Given the description of an element on the screen output the (x, y) to click on. 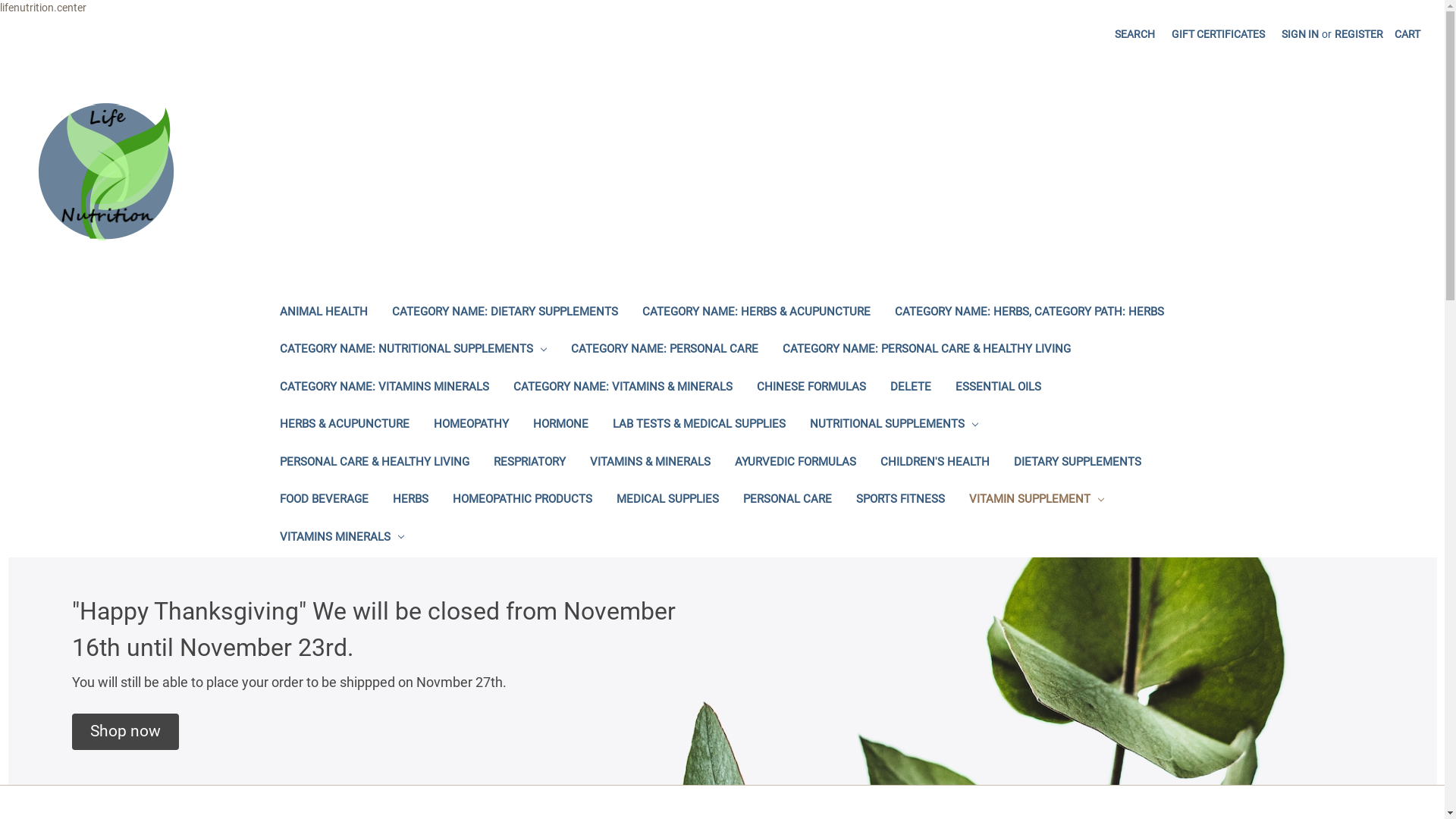
PERSONAL CARE & HEALTHY LIVING Element type: text (373, 463)
RESPRIATORY Element type: text (528, 463)
CATEGORY NAME: PERSONAL CARE Element type: text (664, 350)
VITAMIN SUPPLEMENT Element type: text (1037, 500)
VITAMINS & MINERALS Element type: text (649, 463)
REGISTER Element type: text (1358, 34)
CATEGORY NAME: VITAMINS & MINERALS Element type: text (621, 388)
CATEGORY NAME: PERSONAL CARE & HEALTHY LIVING Element type: text (926, 350)
ANIMAL HEALTH Element type: text (322, 313)
CATEGORY NAME: HERBS, CATEGORY PATH: HERBS Element type: text (1029, 313)
HERBS & ACUPUNCTURE Element type: text (343, 425)
CART Element type: text (1407, 34)
MEDICAL SUPPLIES Element type: text (666, 500)
HERBS Element type: text (410, 500)
SPORTS FITNESS Element type: text (899, 500)
CHINESE FORMULAS Element type: text (811, 388)
SEARCH Element type: text (1134, 34)
VITAMINS MINERALS Element type: text (341, 538)
CATEGORY NAME: NUTRITIONAL SUPPLEMENTS Element type: text (412, 350)
Life Nutrition Center Element type: hover (106, 171)
DELETE Element type: text (910, 388)
PERSONAL CARE Element type: text (787, 500)
SIGN IN Element type: text (1300, 34)
CATEGORY NAME: VITAMINS MINERALS Element type: text (383, 388)
HOMEOPATHIC PRODUCTS Element type: text (521, 500)
CATEGORY NAME: DIETARY SUPPLEMENTS Element type: text (504, 313)
GIFT CERTIFICATES Element type: text (1218, 34)
DIETARY SUPPLEMENTS Element type: text (1076, 463)
ESSENTIAL OILS Element type: text (998, 388)
CATEGORY NAME: HERBS & ACUPUNCTURE Element type: text (755, 313)
AYURVEDIC FORMULAS Element type: text (794, 463)
LAB TESTS & MEDICAL SUPPLIES Element type: text (698, 425)
CHILDREN'S HEALTH Element type: text (934, 463)
FOOD BEVERAGE Element type: text (322, 500)
HOMEOPATHY Element type: text (470, 425)
HORMONE Element type: text (559, 425)
NUTRITIONAL SUPPLEMENTS Element type: text (894, 425)
